Given the description of an element on the screen output the (x, y) to click on. 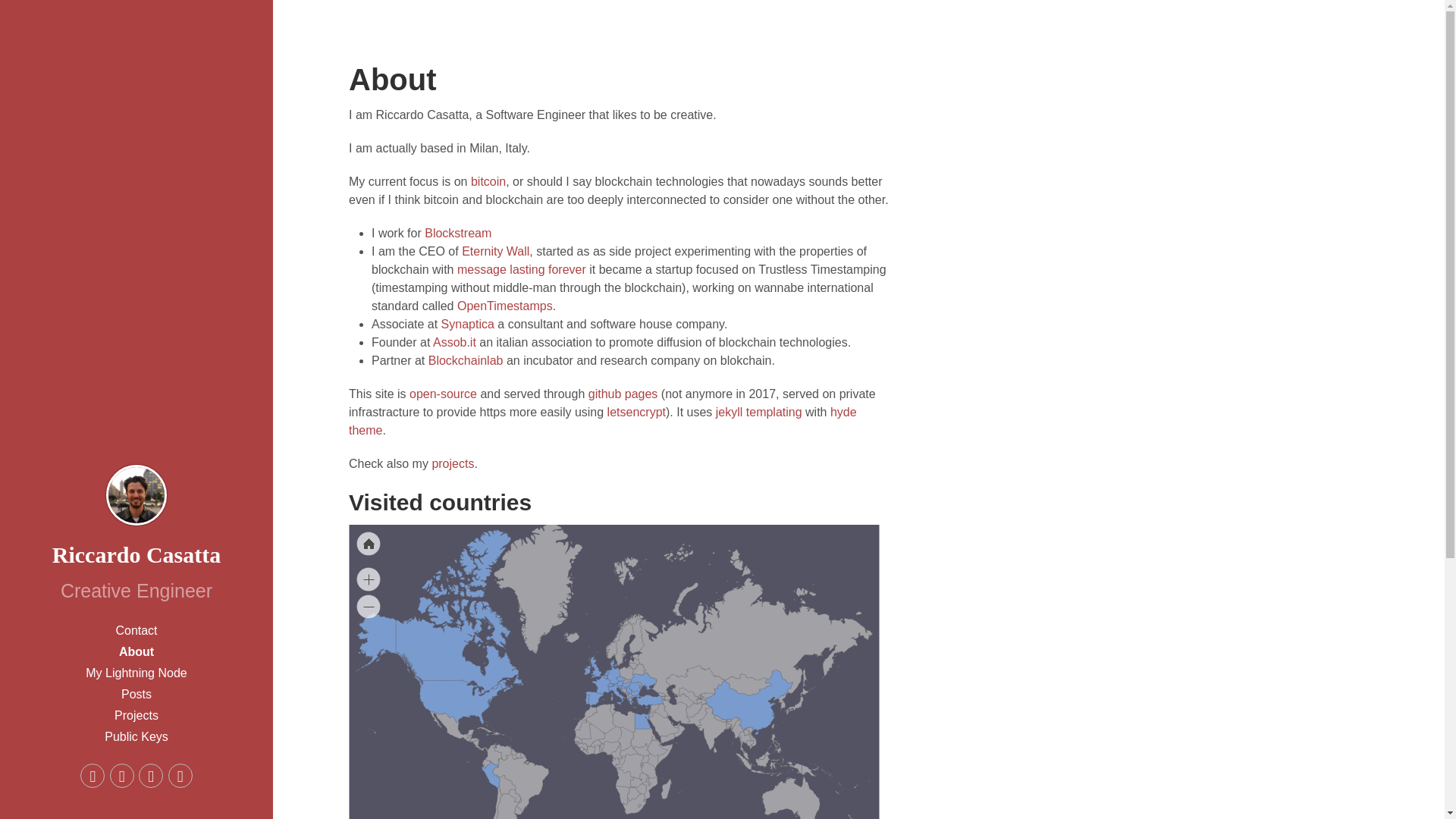
Public Keys (136, 736)
OpenTimestamps (505, 305)
bitcoin (487, 181)
Assob.it (454, 341)
Blockstream (458, 232)
Synaptica (468, 323)
hyde theme (603, 420)
message lasting forever (521, 269)
open-source (443, 393)
letsencrypt (636, 411)
My Lightning Node (136, 672)
Riccardo Casatta on LinkedIn (180, 775)
github pages (623, 393)
Riccardo Casatta (136, 554)
About (136, 651)
